Given the description of an element on the screen output the (x, y) to click on. 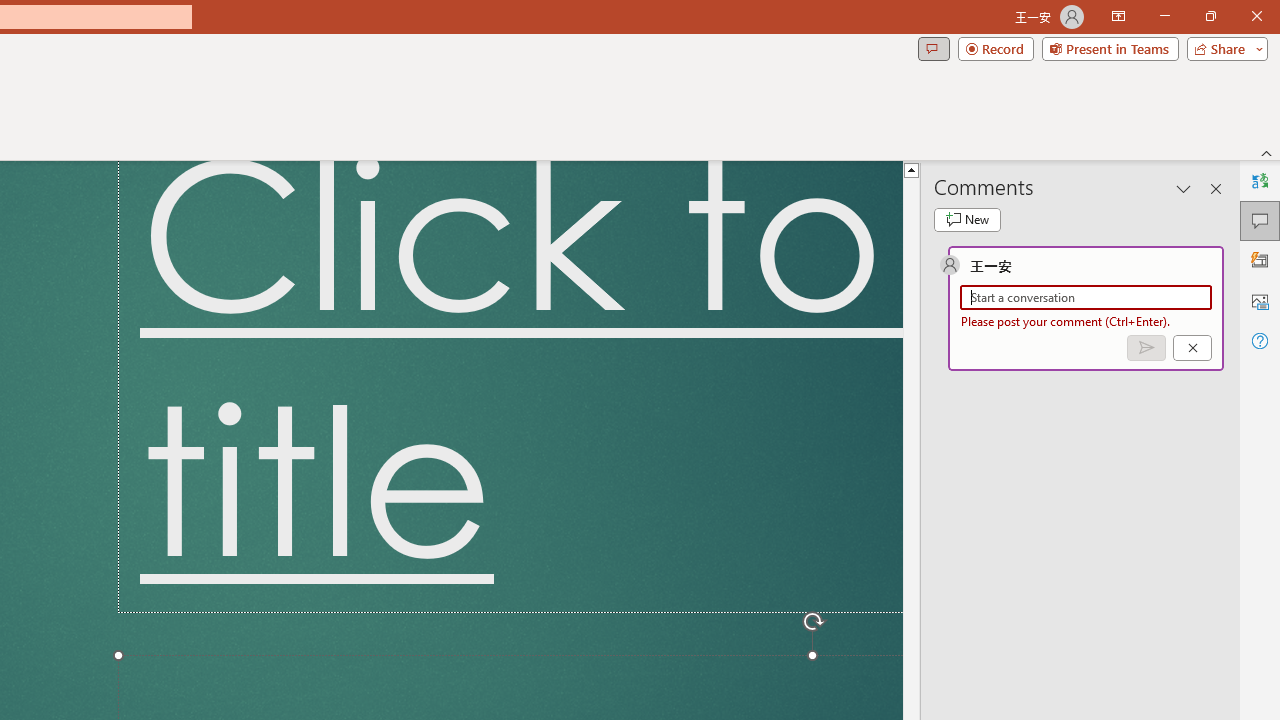
Line up (911, 169)
Title TextBox (509, 386)
Translator (1260, 180)
Alt Text (1260, 300)
Start a conversation (1085, 297)
Post comment (Ctrl + Enter) (1146, 347)
Cancel (1192, 347)
